Given the description of an element on the screen output the (x, y) to click on. 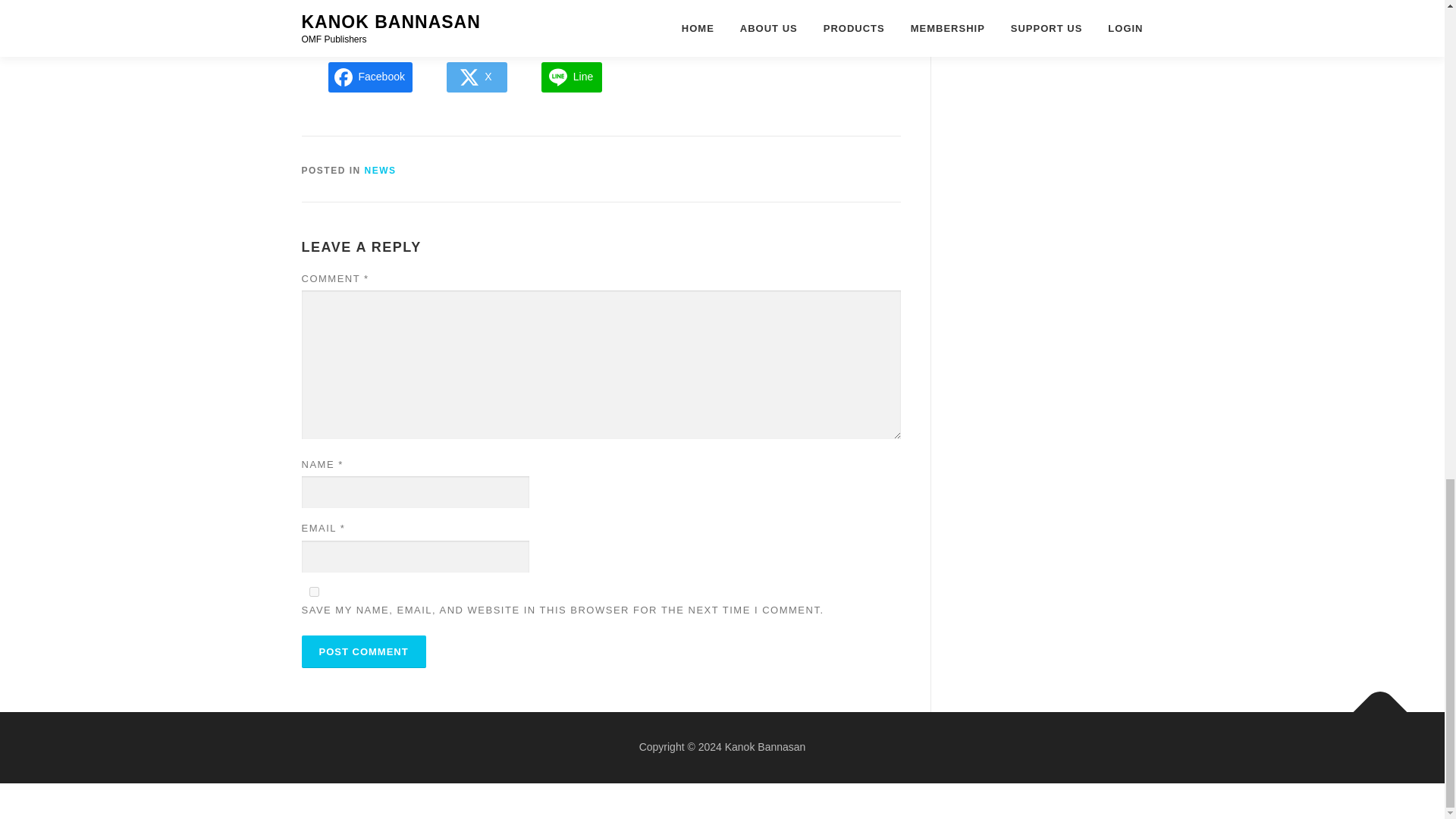
Facebook (369, 77)
Post Comment (363, 651)
Post Comment (363, 651)
X (476, 77)
Back To Top (1372, 704)
Line (571, 77)
NEWS (380, 170)
yes (313, 592)
